Given the description of an element on the screen output the (x, y) to click on. 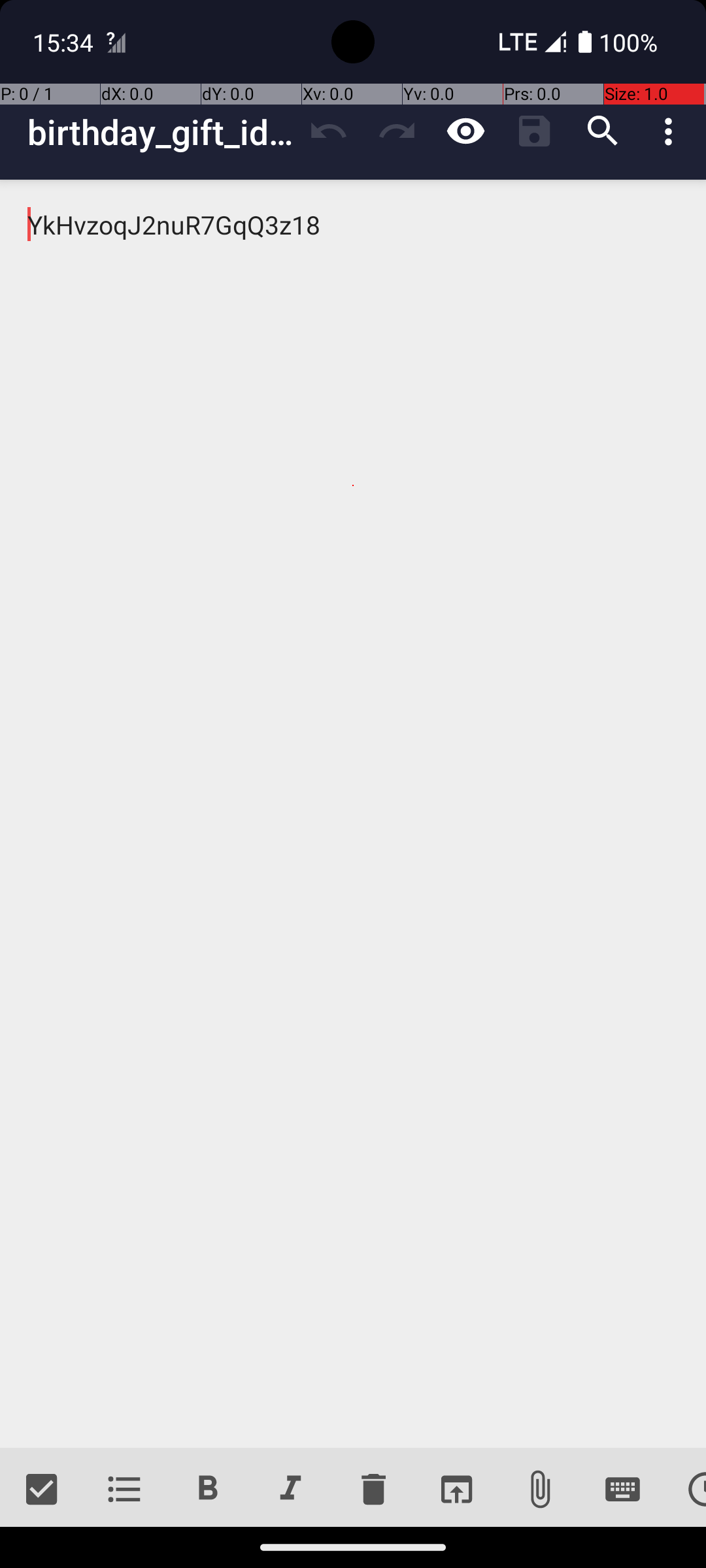
birthday_gift_ideas_mom_final Element type: android.widget.TextView (160, 131)
YkHvzoqJ2nuR7GqQ3z18
 Element type: android.widget.EditText (353, 813)
